Given the description of an element on the screen output the (x, y) to click on. 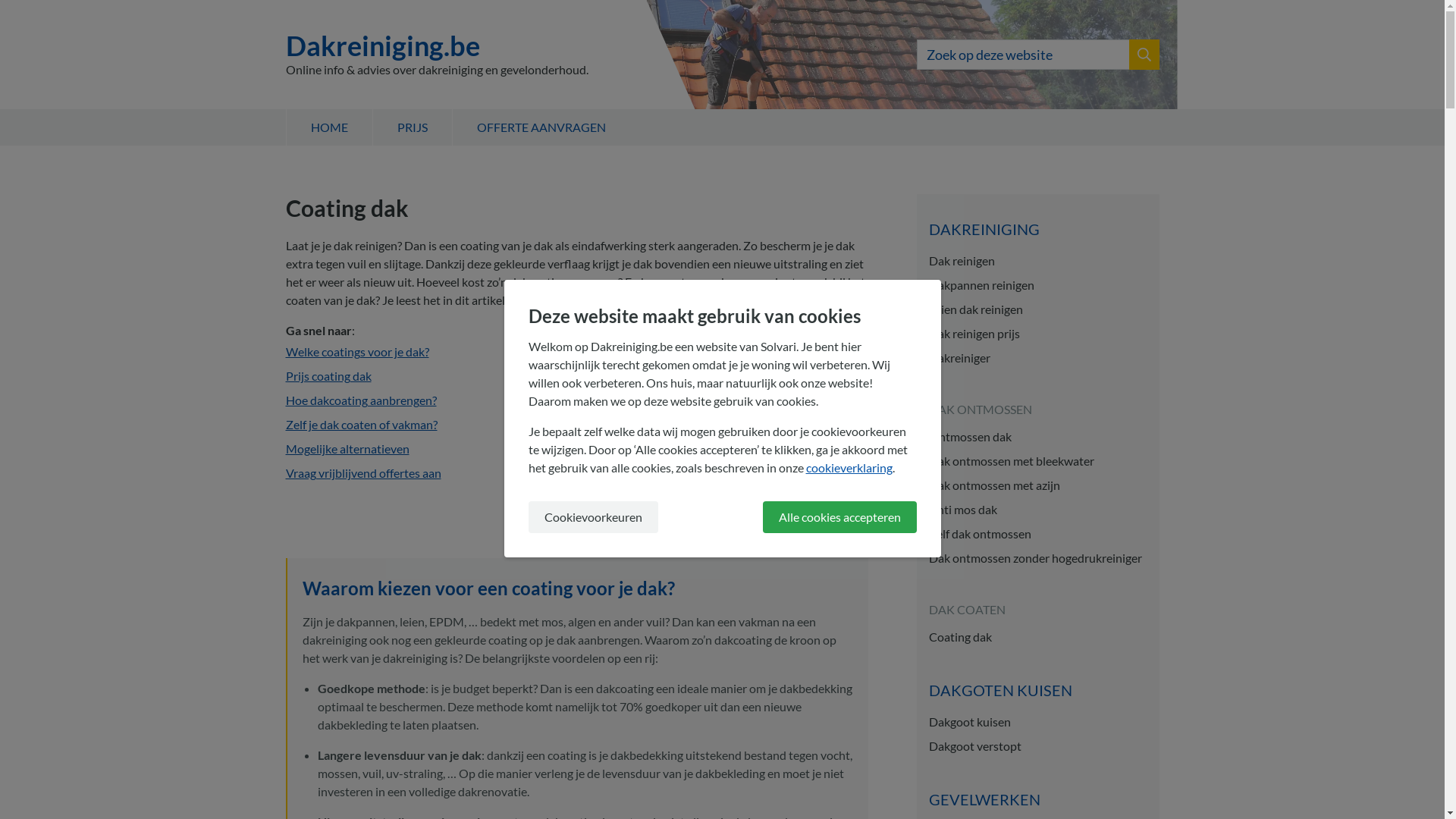
Dak reinigen prijs Element type: text (1037, 333)
Welke coatings voor je dak? Element type: text (356, 351)
Dakreiniging.be Element type: text (436, 45)
Dak ontmossen met bleekwater Element type: text (1037, 460)
Dak ontmossen met azijn Element type: text (1037, 485)
Dak reinigen Element type: text (1037, 260)
Prijs coating dak Element type: text (327, 376)
Hoe dakcoating aanbrengen? Element type: text (360, 400)
Dak ontmossen zonder hogedrukreiniger Element type: text (1037, 558)
Dakpannen reinigen Element type: text (1037, 285)
cookieverklaring Element type: text (848, 467)
Ontmossen dak Element type: text (1037, 436)
Zelf je dak coaten of vakman? Element type: text (360, 424)
Vraag vrijblijvend offertes aan Element type: text (362, 473)
PRIJS Element type: text (411, 127)
Dakgoot kuisen Element type: text (1037, 721)
Dakreiniger Element type: text (1037, 357)
Dakgoot verstopt Element type: text (1037, 746)
Zelf dak ontmossen Element type: text (1037, 533)
Leien dak reinigen Element type: text (1037, 309)
Alle cookies accepteren Element type: text (839, 517)
Mogelijke alternatieven Element type: text (346, 448)
HOME Element type: text (328, 127)
Anti mos dak Element type: text (1037, 509)
OFFERTE AANVRAGEN Element type: text (540, 127)
Cookievoorkeuren Element type: text (592, 517)
Coating dak Element type: text (1037, 636)
